Given the description of an element on the screen output the (x, y) to click on. 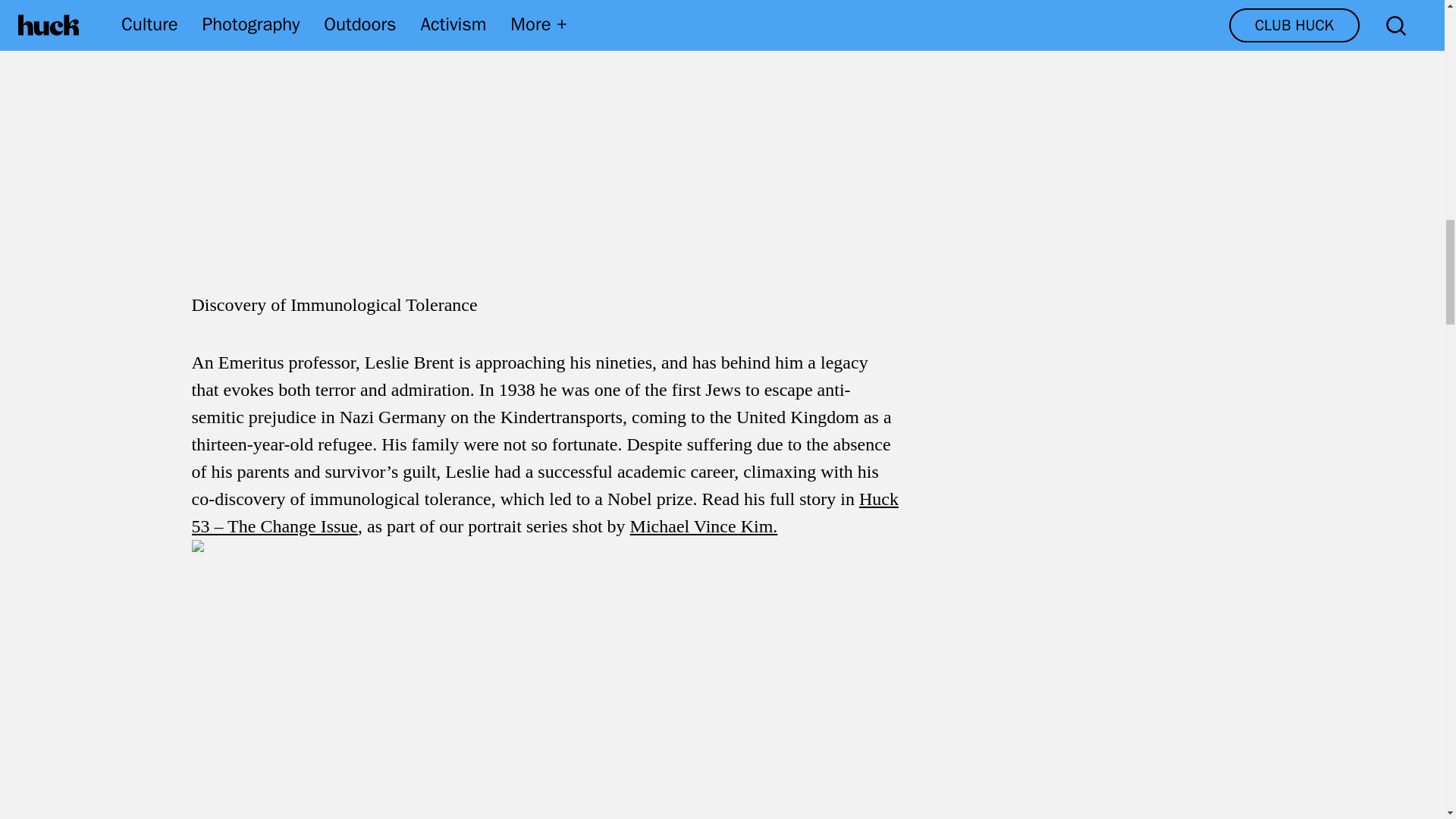
Michael Vince Kim. (703, 526)
